Given the description of an element on the screen output the (x, y) to click on. 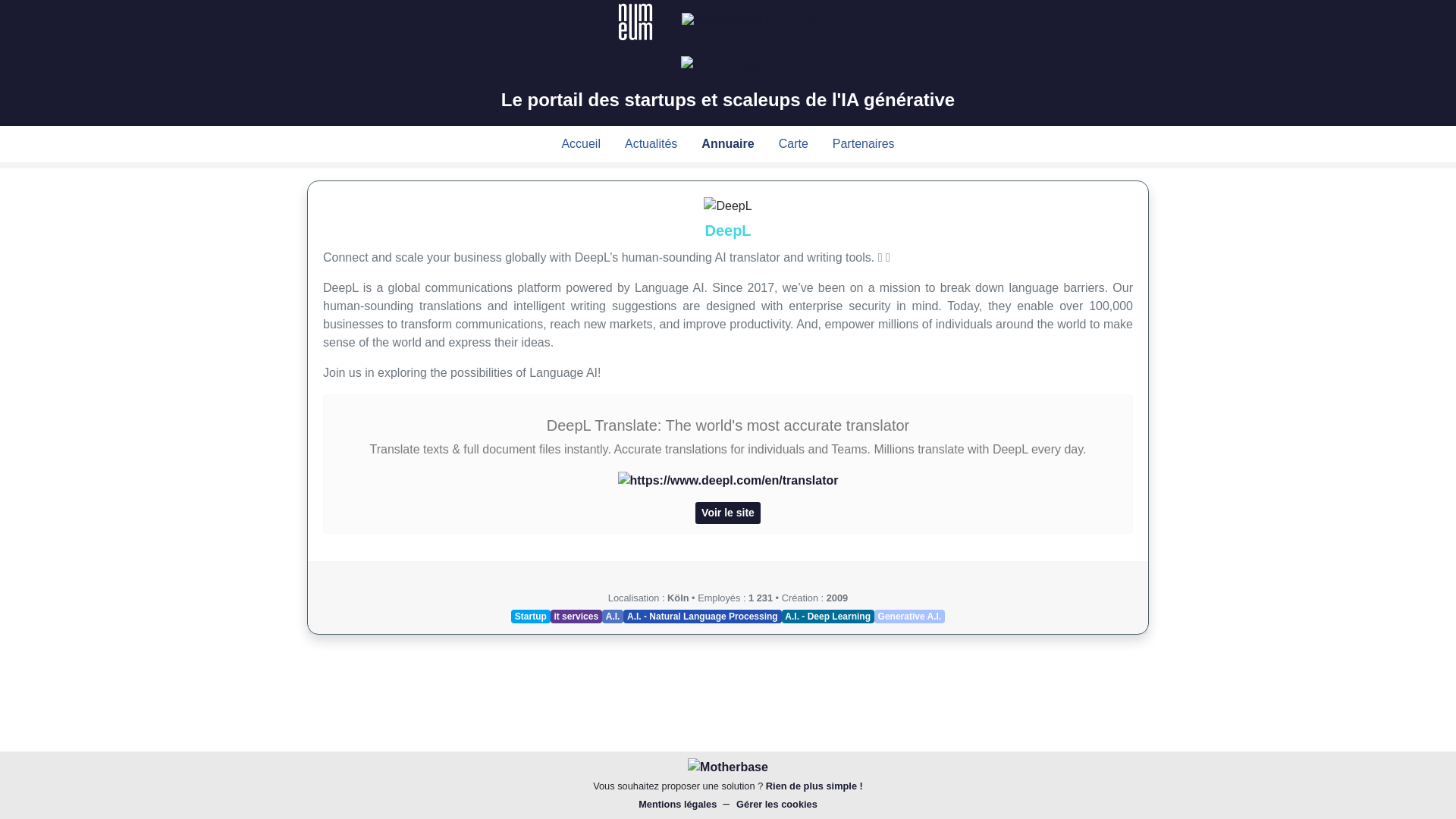
Motherbase.ai (727, 65)
Startup (530, 616)
A.I. (612, 616)
Annuaire (727, 143)
it services (576, 616)
Carte (793, 143)
A.I. - Natural Language Processing (701, 616)
Numeum (634, 21)
Accueil (580, 143)
Numeum (636, 20)
